Given the description of an element on the screen output the (x, y) to click on. 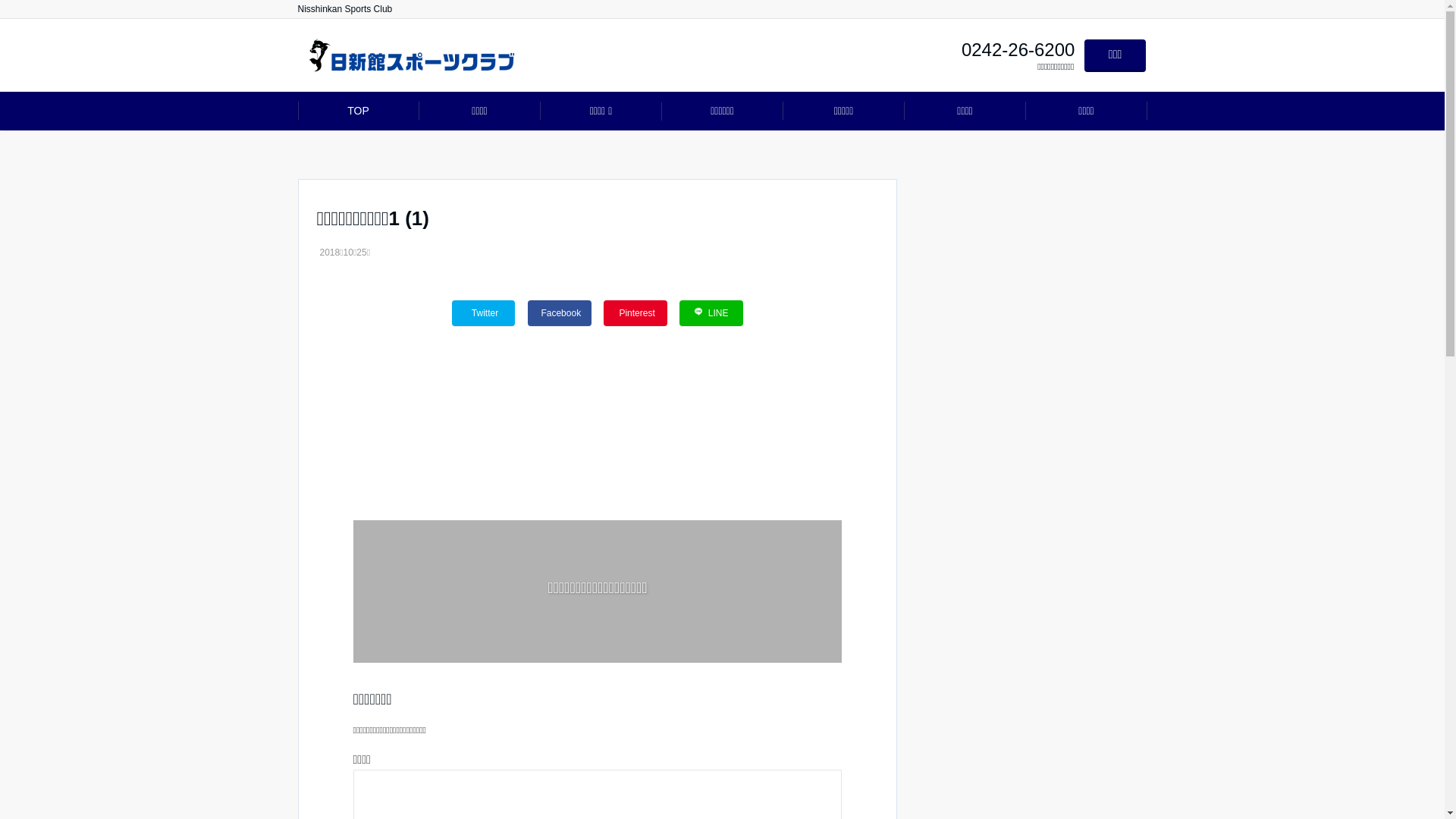
LINE Element type: text (711, 313)
Facebook Element type: text (559, 313)
Twitter Element type: text (483, 313)
TOP Element type: text (357, 110)
Pinterest Element type: text (635, 313)
